Given the description of an element on the screen output the (x, y) to click on. 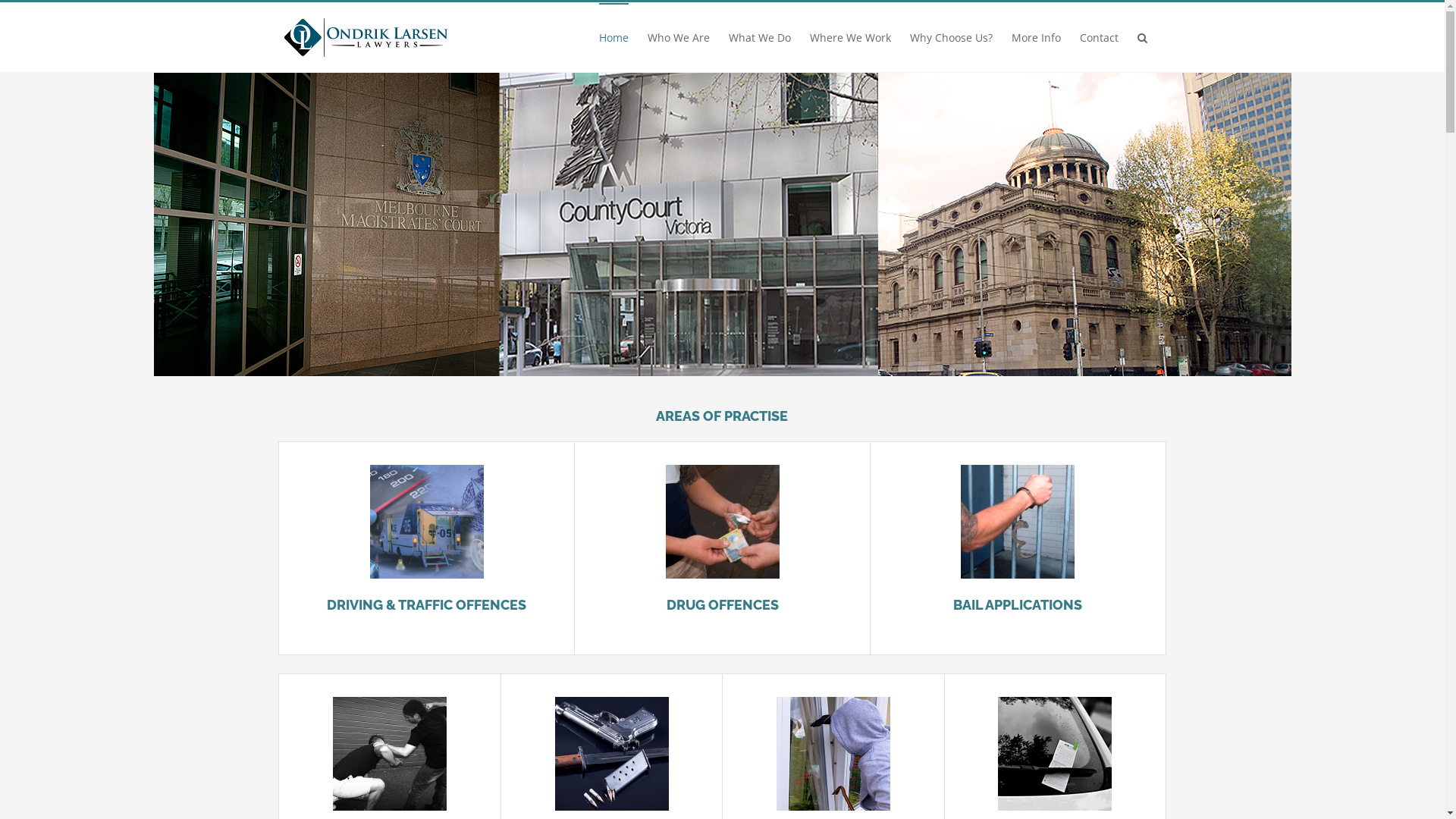
Search Element type: hover (1142, 37)
More Info Element type: text (1035, 37)
Home Element type: text (613, 37)
Where We Work Element type: text (850, 37)
BAIL APPLICATIONS Element type: text (1017, 604)
Contact Element type: text (1098, 37)
What We Do Element type: text (759, 37)
DRUG OFFENCES Element type: text (722, 604)
Who We Are Element type: text (678, 37)
DRIVING & TRAFFIC OFFENCES Element type: text (426, 604)
Why Choose Us? Element type: text (951, 37)
